Given the description of an element on the screen output the (x, y) to click on. 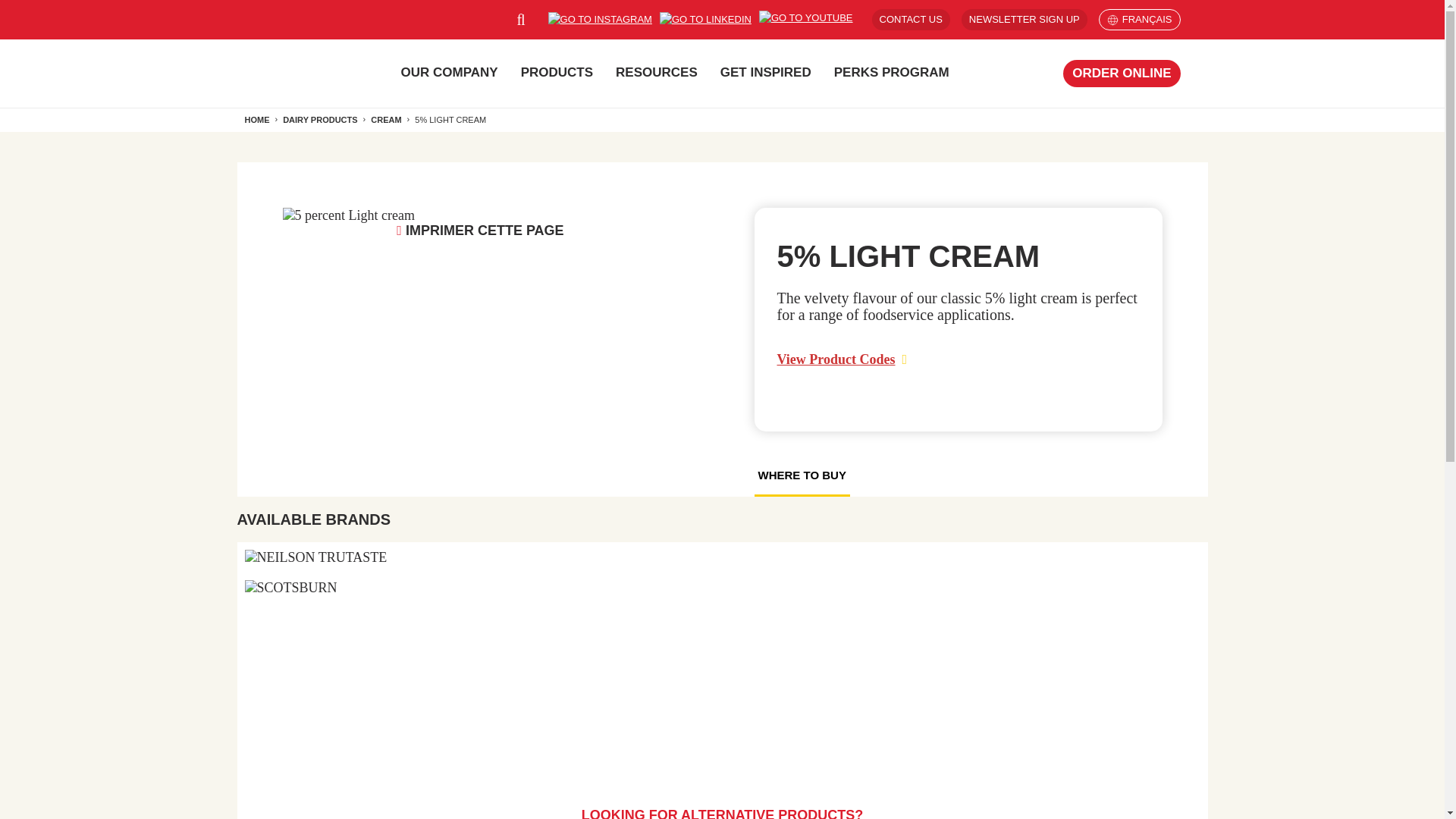
ORDER ONLINE (1120, 72)
IMPRIMER CETTE PAGE (479, 230)
PERKS PROGRAM (891, 72)
CREAM (386, 119)
CONTACT US (911, 19)
OUR COMPANY (449, 72)
DAIRY PRODUCTS (319, 119)
NEWSLETTER SIGN UP (1023, 19)
GET INSPIRED (765, 72)
HOME (256, 119)
PRODUCTS (556, 72)
View Product Codes (841, 363)
RESOURCES (656, 72)
